Given the description of an element on the screen output the (x, y) to click on. 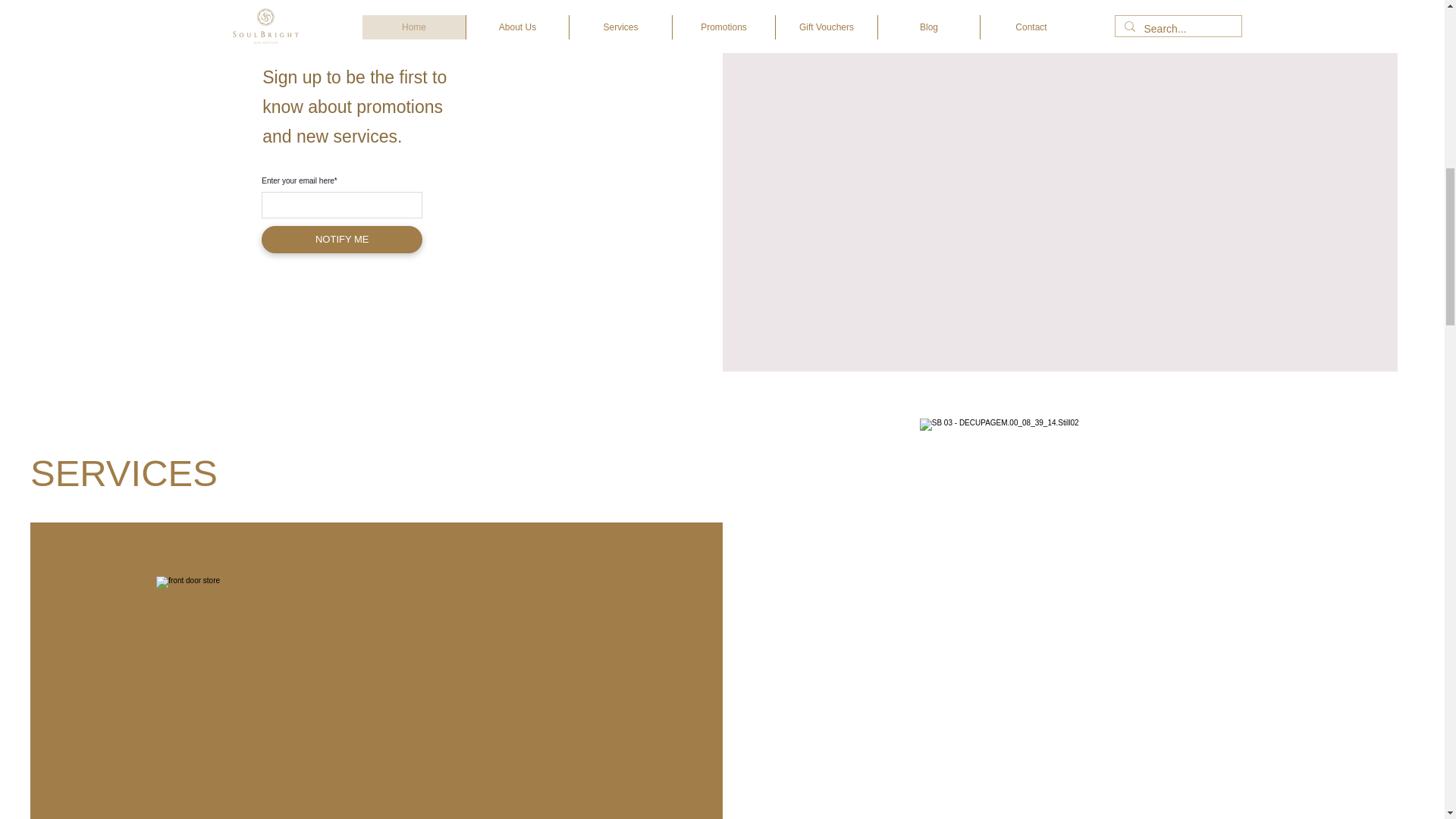
NOTIFY ME (342, 239)
